Given the description of an element on the screen output the (x, y) to click on. 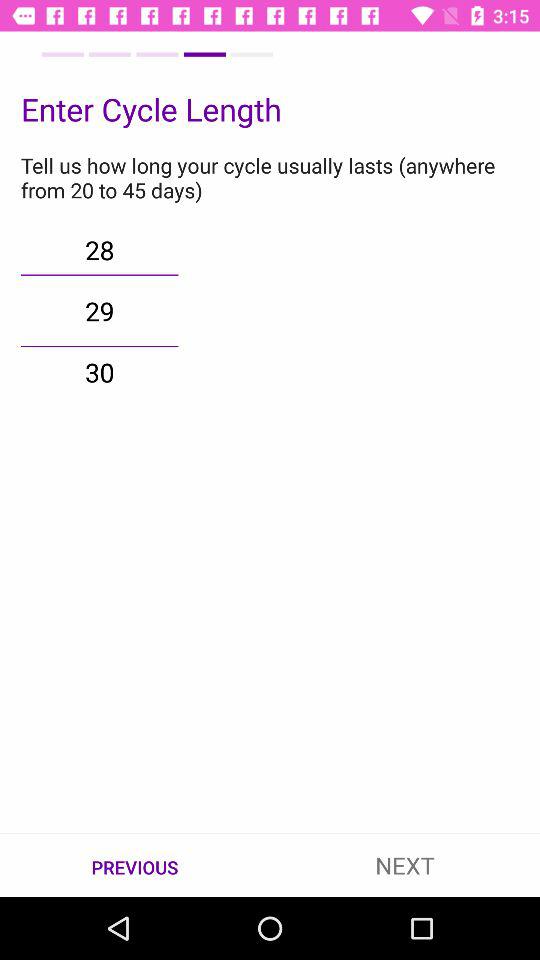
press next (405, 864)
